Given the description of an element on the screen output the (x, y) to click on. 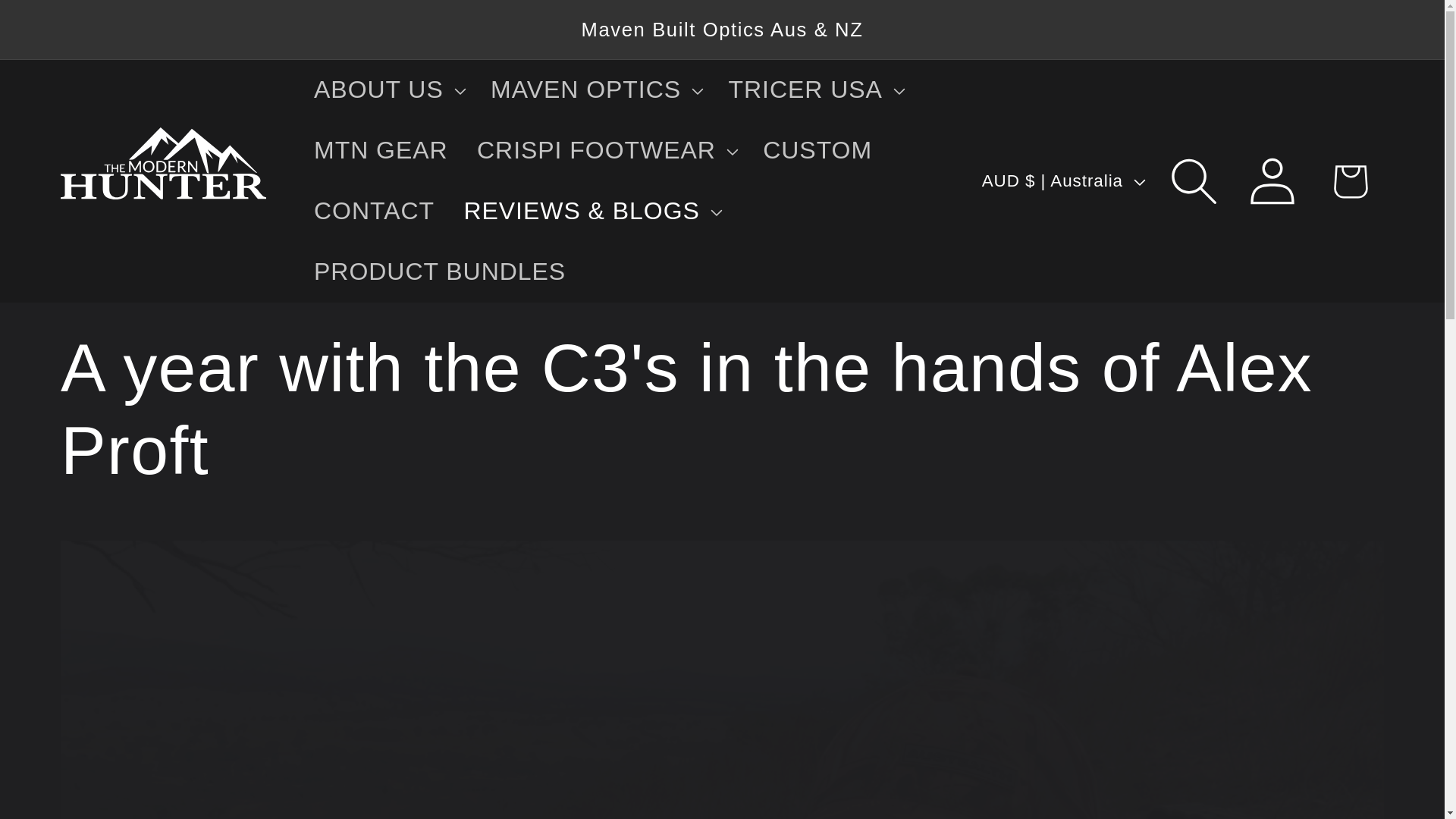
Skip to content (73, 27)
